Given the description of an element on the screen output the (x, y) to click on. 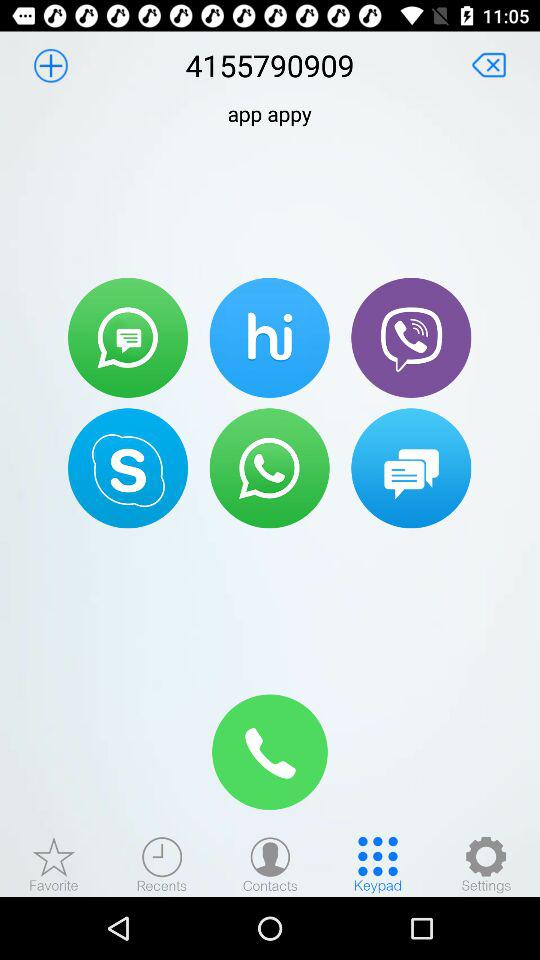
call (411, 337)
